Given the description of an element on the screen output the (x, y) to click on. 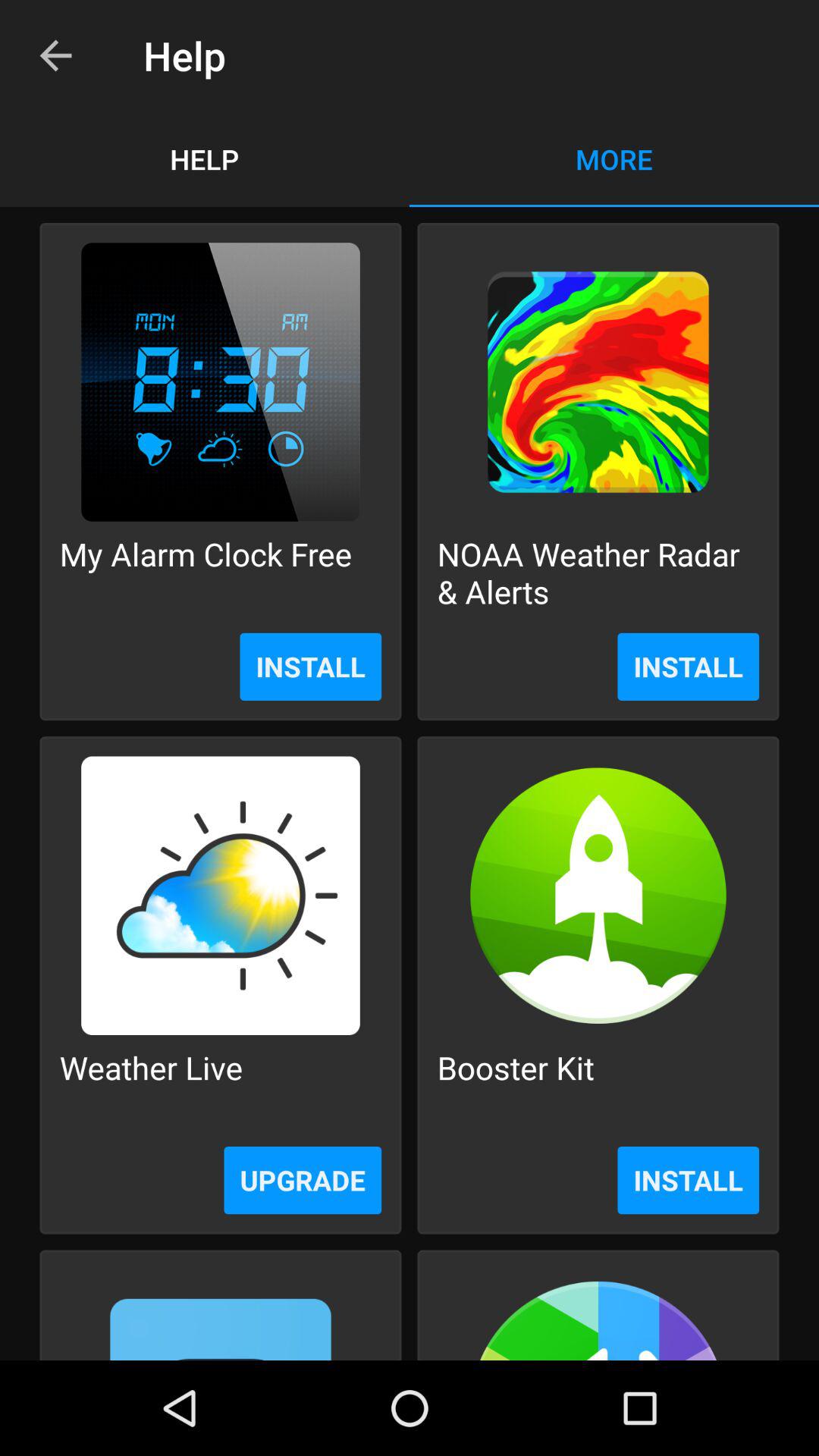
scroll until my alarm clock item (205, 572)
